Given the description of an element on the screen output the (x, y) to click on. 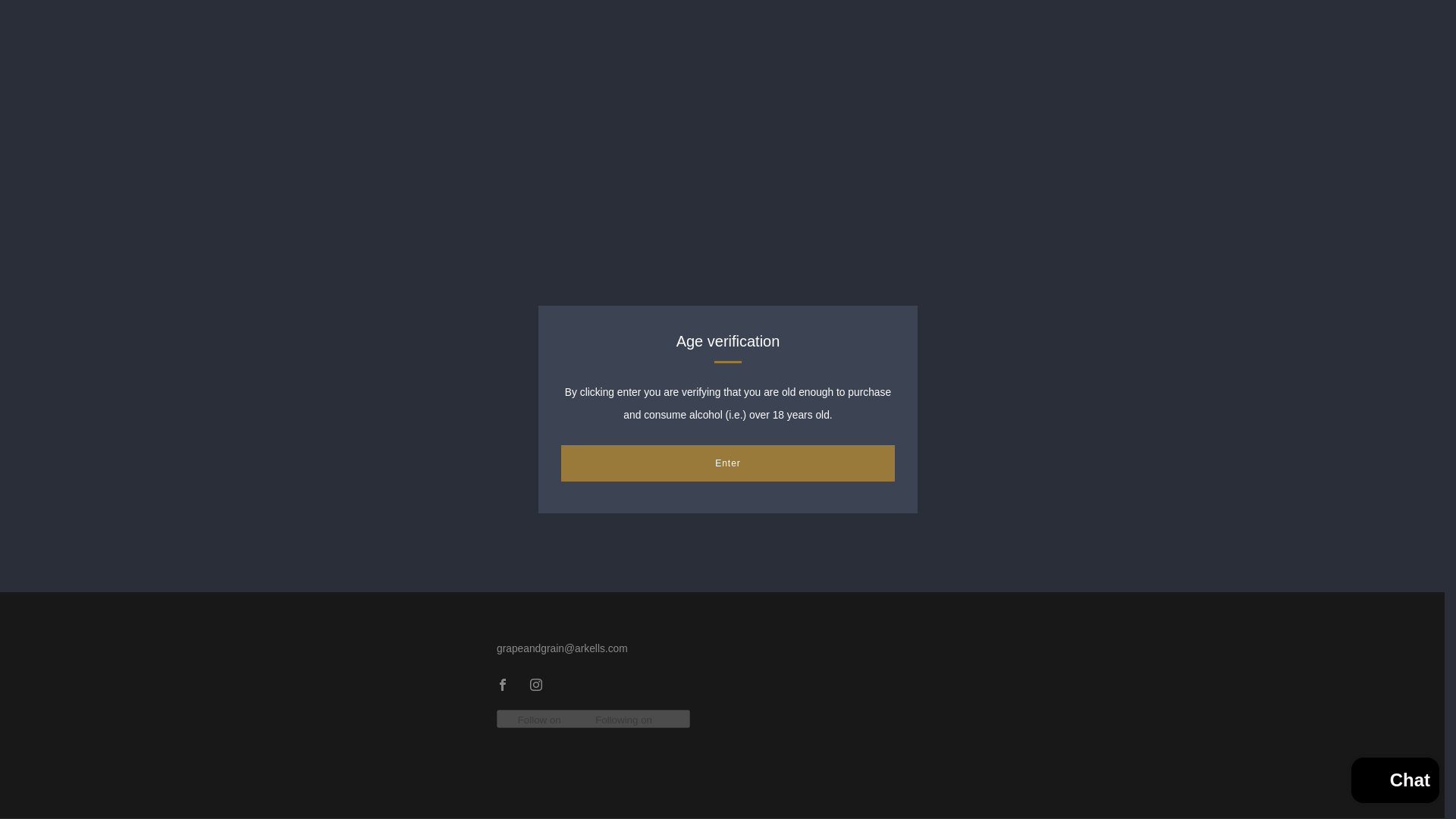
Google Pay (165, 794)
Maestro (198, 794)
American Express (36, 794)
Discover (134, 794)
Shop Pay (296, 794)
PayPal (264, 794)
Visa (360, 794)
Diners Club (101, 794)
Union Pay (328, 794)
Mastercard (230, 794)
Apple Pay (68, 794)
